Given the description of an element on the screen output the (x, y) to click on. 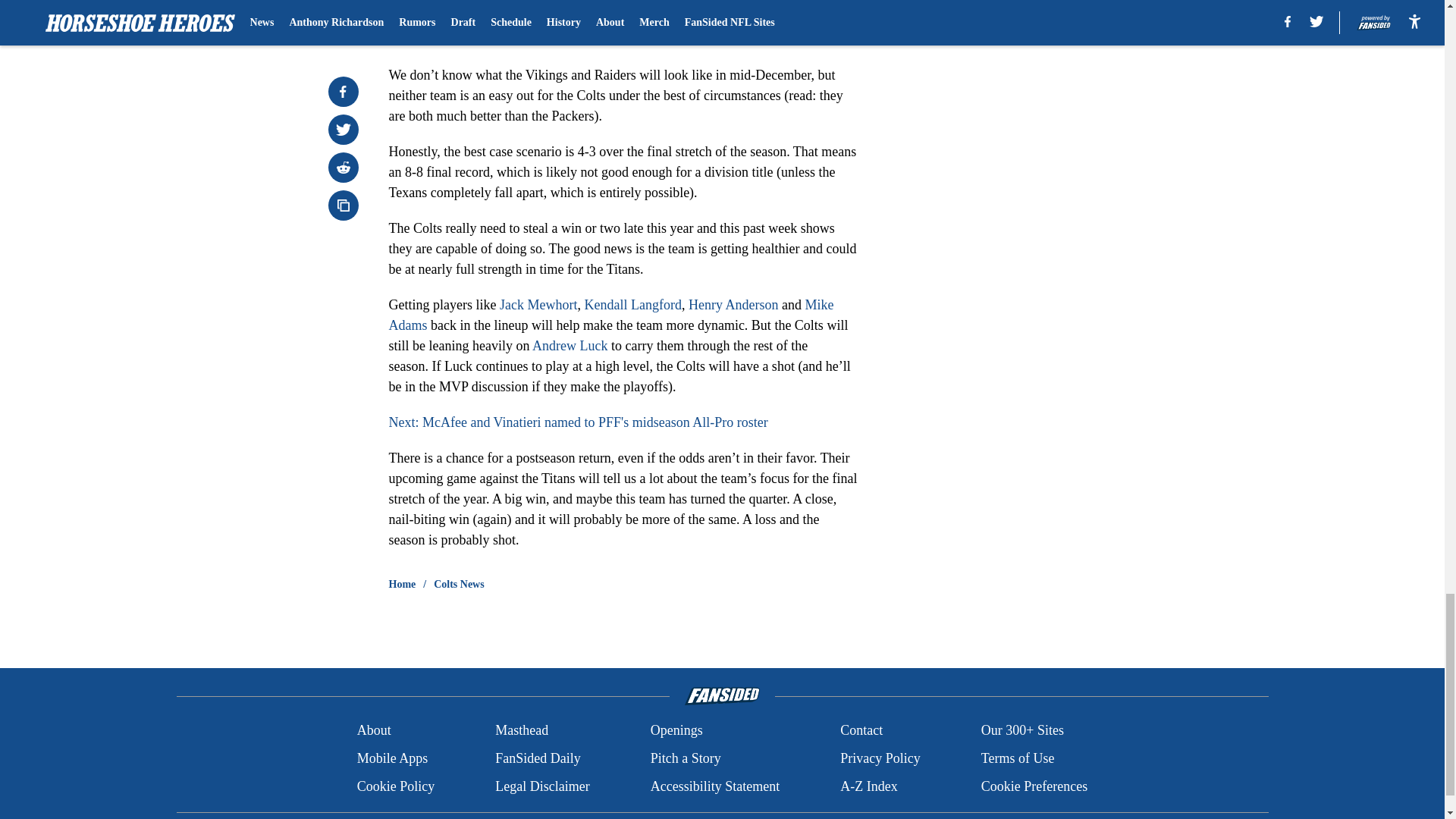
Mike Adams (610, 314)
Henry Anderson (732, 304)
Kendall Langford (632, 304)
Andrew Luck (569, 345)
Home (401, 584)
Openings (676, 730)
Colts News (458, 584)
About (373, 730)
Masthead (521, 730)
Jack Mewhort (537, 304)
